Given the description of an element on the screen output the (x, y) to click on. 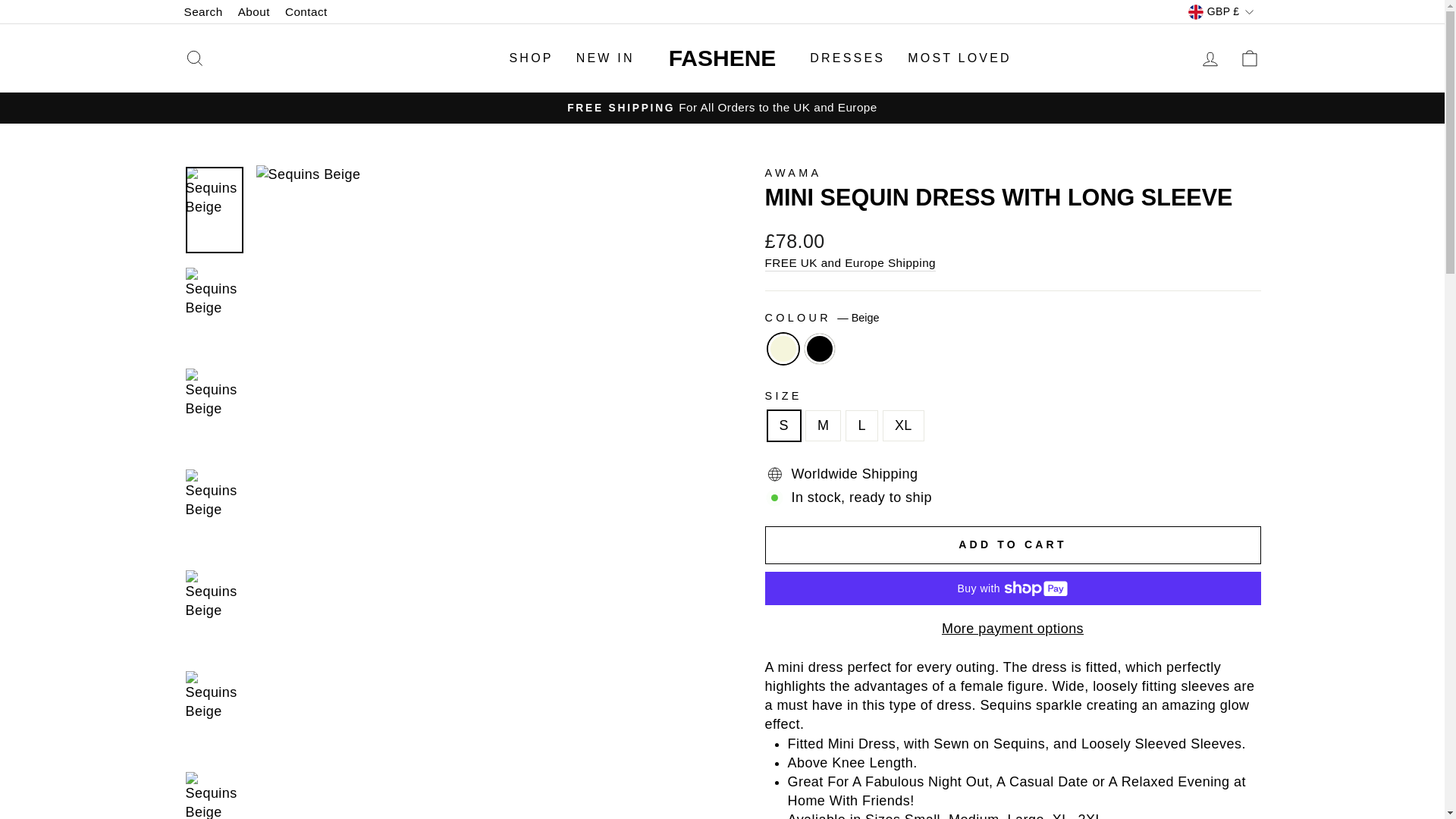
Awama (792, 173)
